Given the description of an element on the screen output the (x, y) to click on. 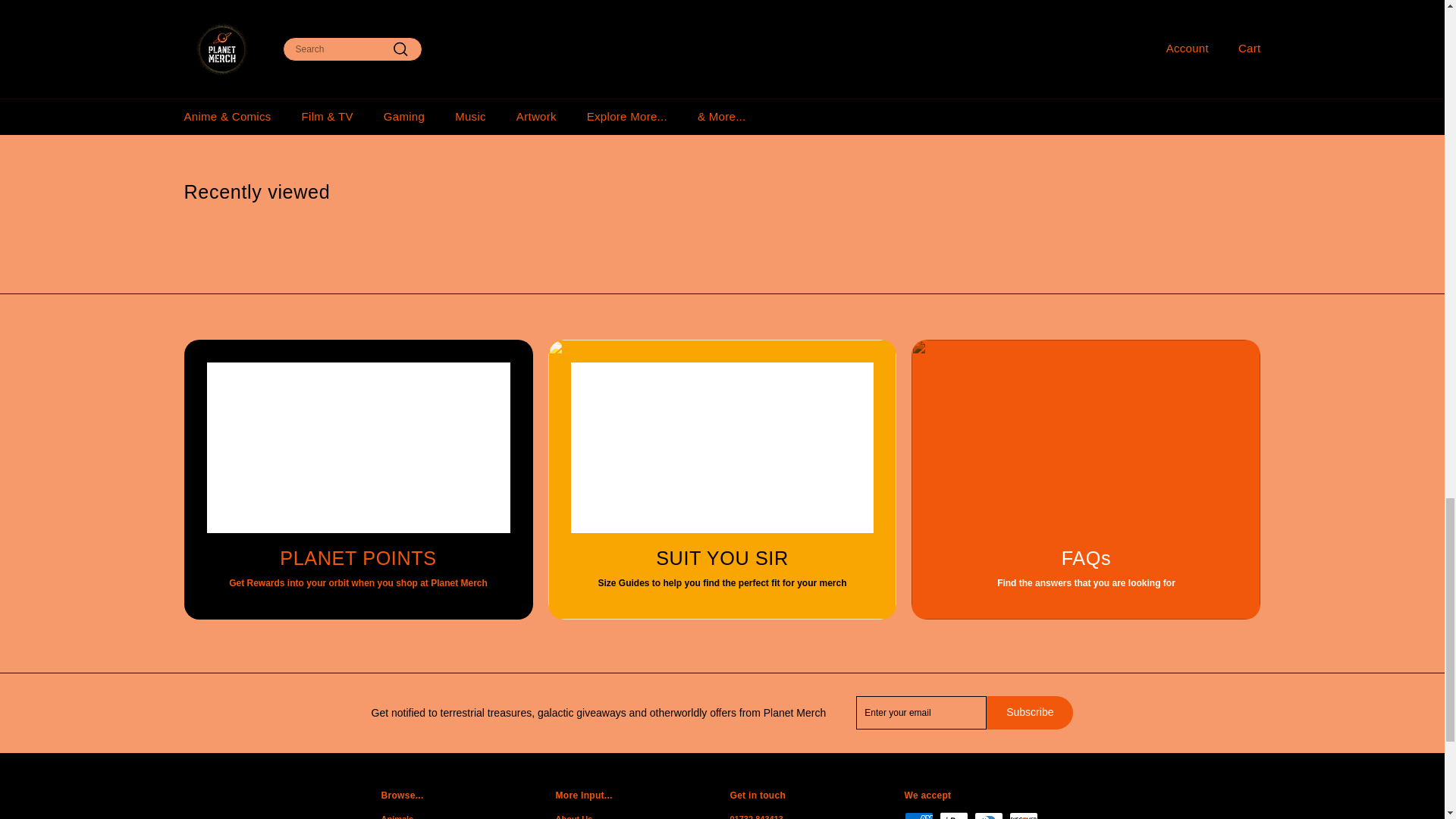
Discover (1022, 815)
American Express (918, 815)
Diners Club (988, 815)
Apple Pay (953, 815)
